Given the description of an element on the screen output the (x, y) to click on. 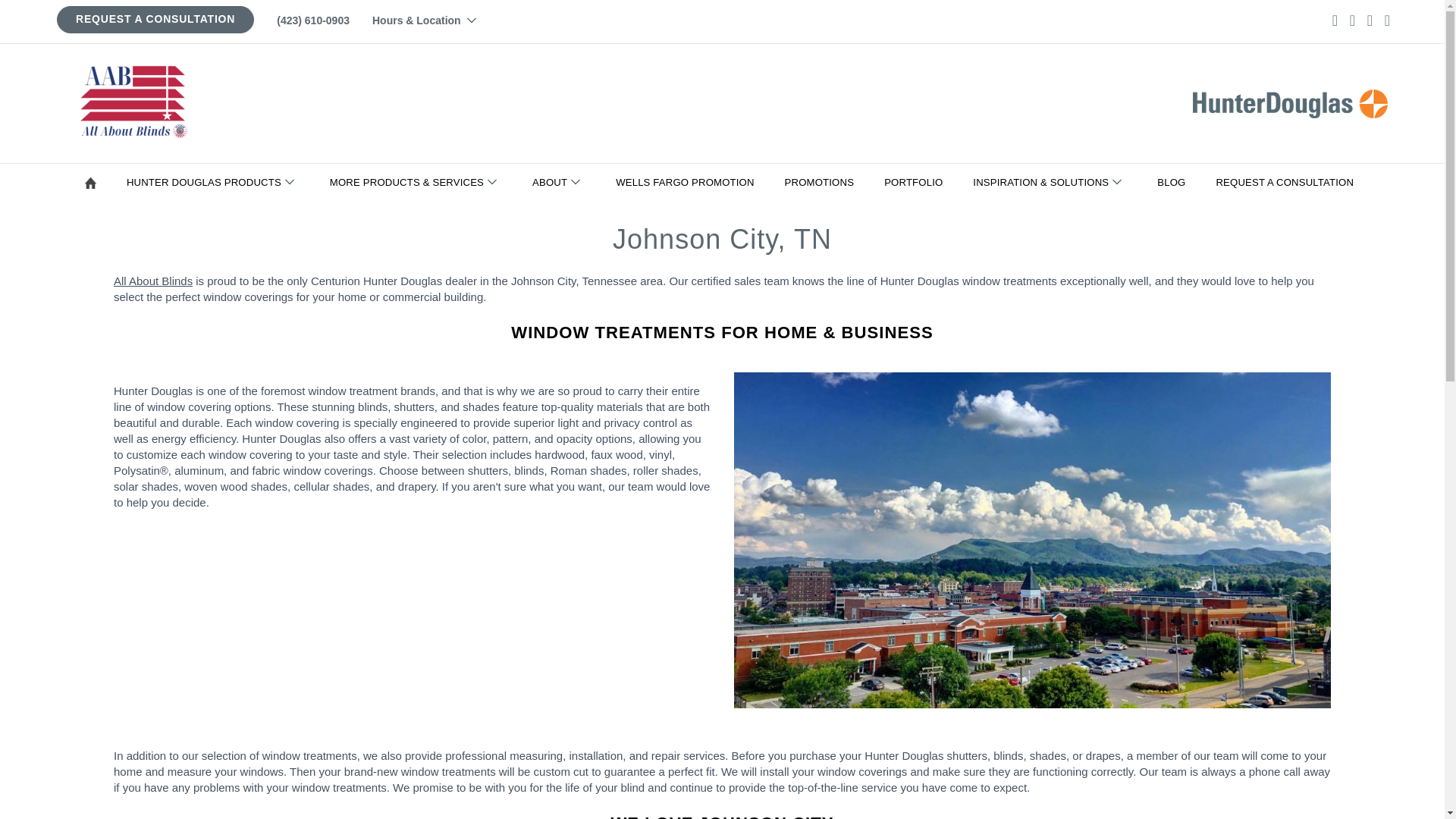
BLOG (1174, 182)
HUNTER DOUGLAS PRODUCTS (216, 182)
REQUEST A CONSULTATION (1287, 182)
ABOUT (561, 182)
PORTFOLIO (916, 182)
REQUEST A CONSULTATION (155, 18)
PROMOTIONS (822, 182)
WELLS FARGO PROMOTION (687, 182)
